Given the description of an element on the screen output the (x, y) to click on. 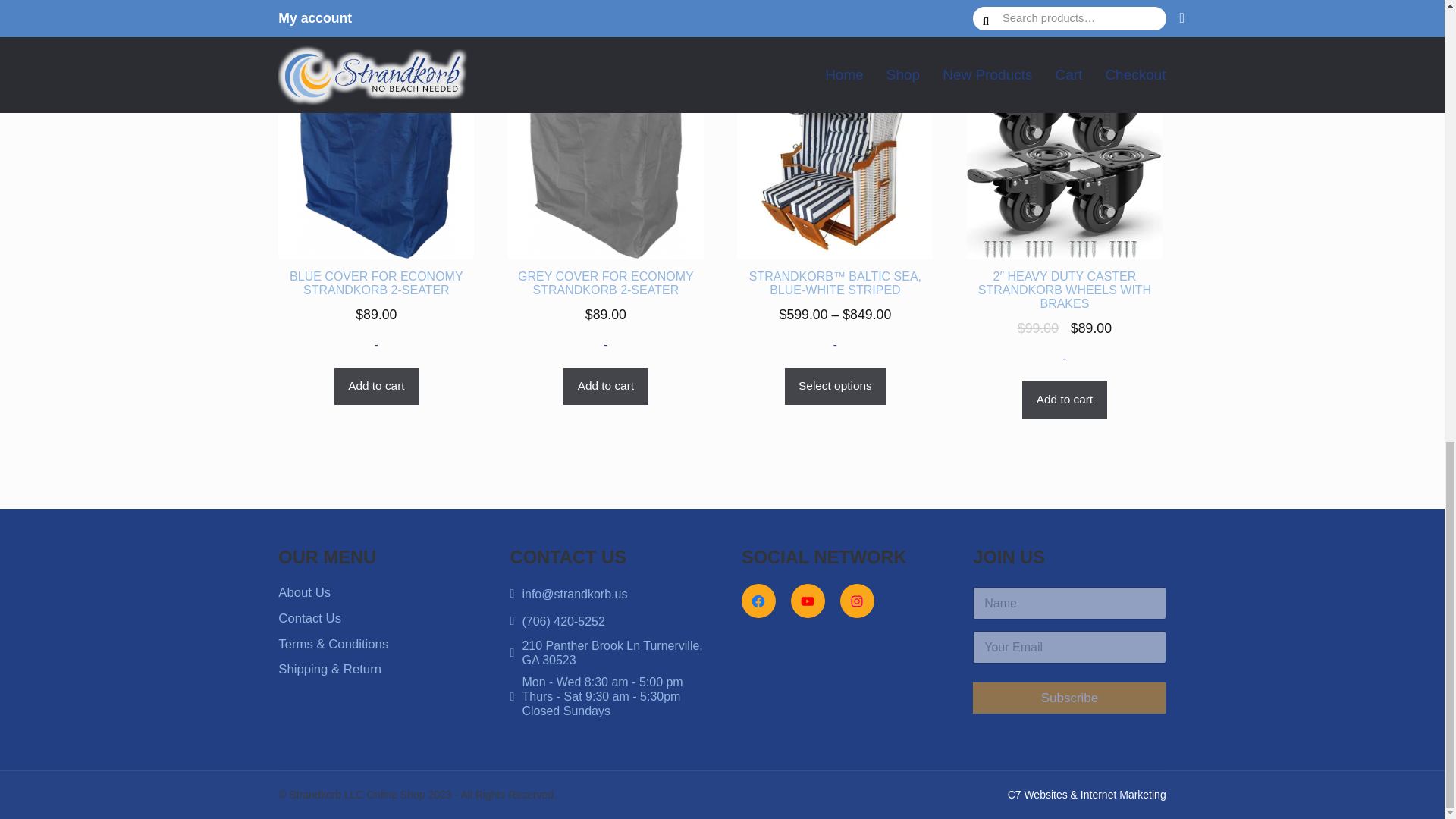
Add to cart (605, 386)
About Us (304, 592)
Select options (835, 386)
Add to cart (1064, 400)
Add to cart (376, 386)
Contact Us (309, 617)
